Given the description of an element on the screen output the (x, y) to click on. 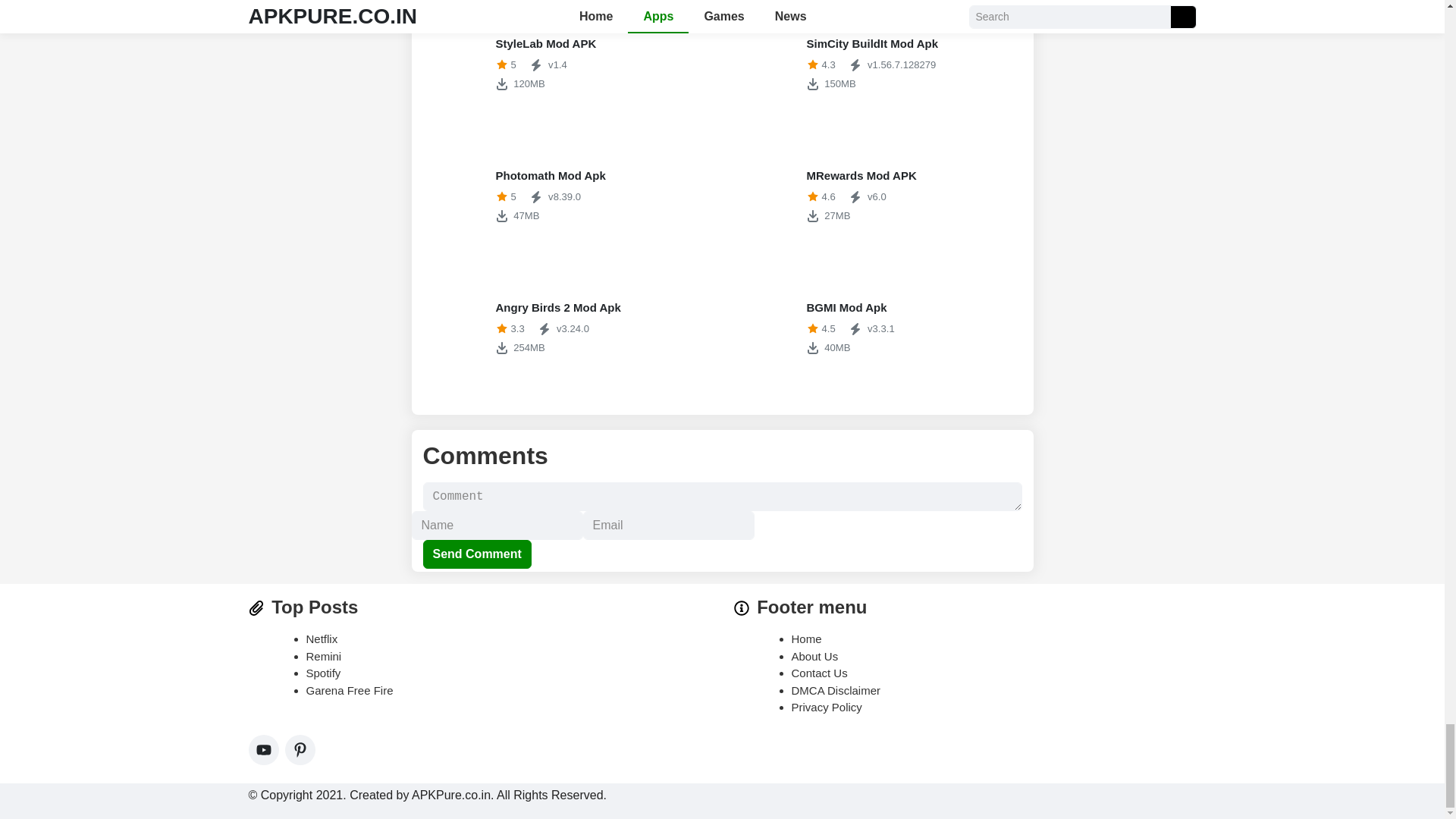
Netflix (321, 638)
 BGMI Mod Apk (567, 196)
 StyleLab Mod APK (877, 327)
Send Comment (877, 327)
Spotify (877, 64)
 Photomath Mod Apk (567, 64)
Remini (477, 553)
